Given the description of an element on the screen output the (x, y) to click on. 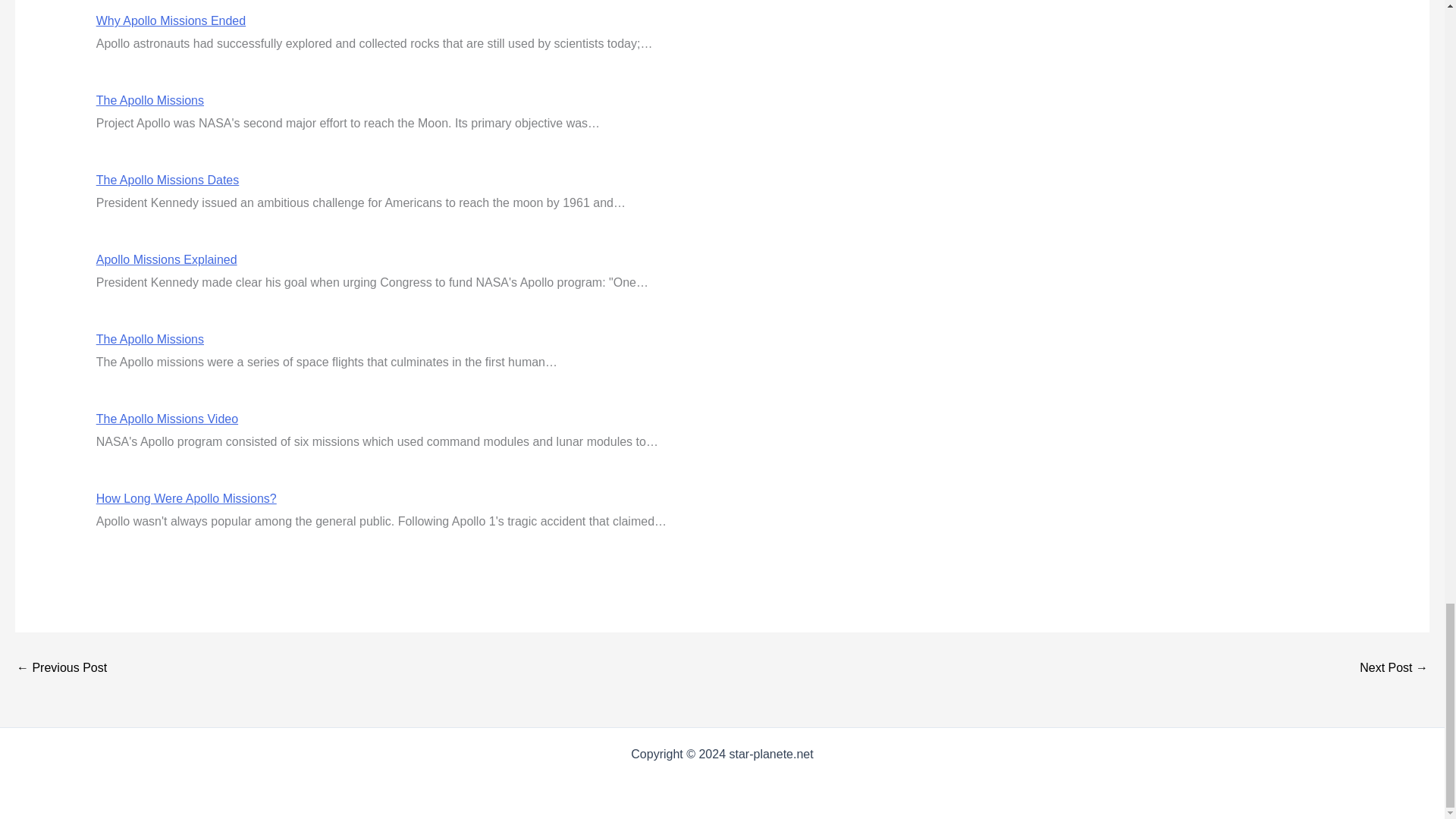
Fun Facts About Mexico (1393, 667)
Which Planet is Closest to Earth? (61, 667)
